Given the description of an element on the screen output the (x, y) to click on. 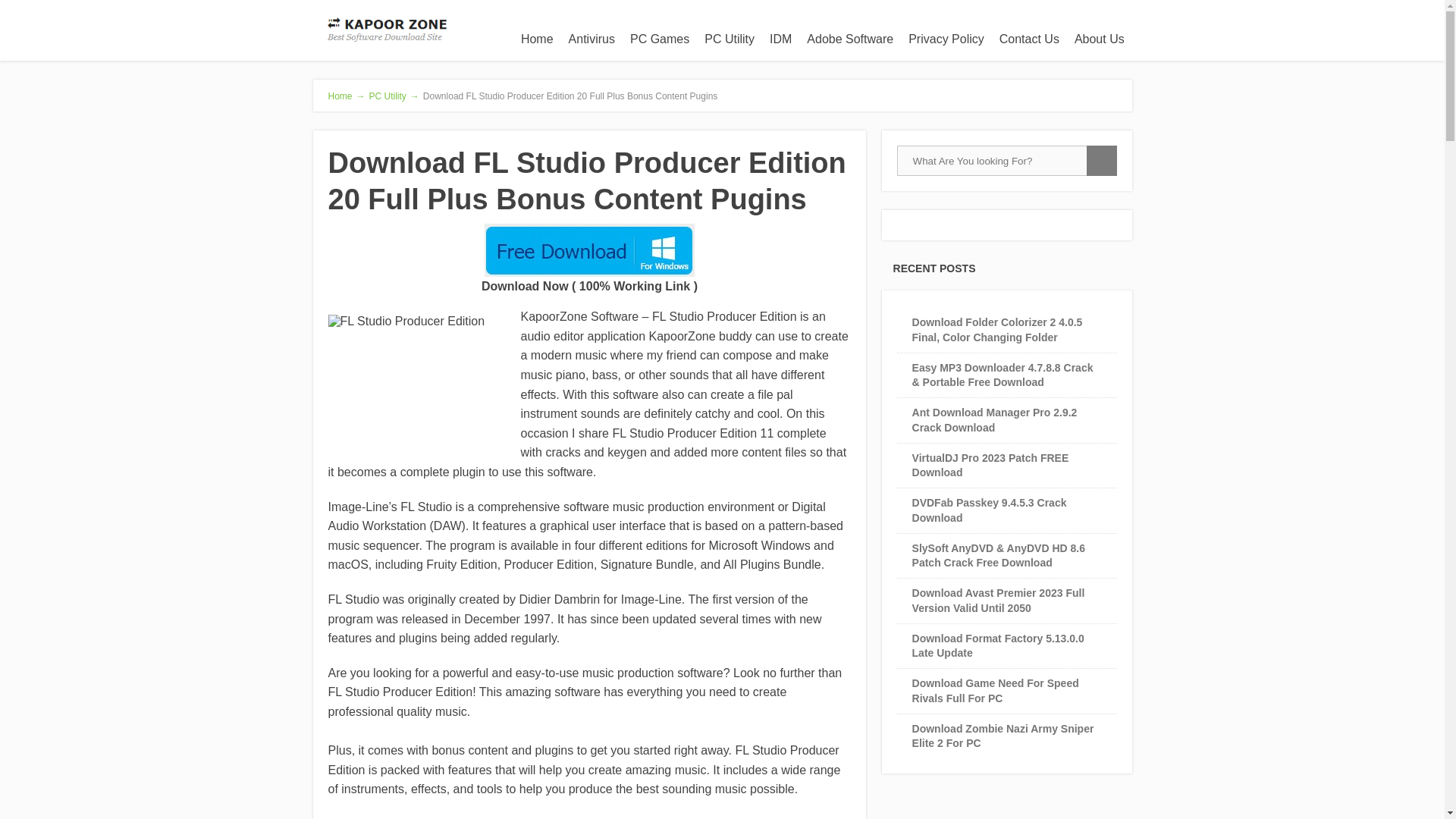
Adobe Software (850, 39)
IDM (780, 39)
Privacy Policy (946, 39)
Contact Us (1029, 39)
About Us (1099, 39)
Ant Download Manager Pro 2.9.2 Crack Download (994, 419)
PC Games (660, 39)
VirtualDJ Pro 2023 Patch FREE Download (990, 465)
Download Zombie Nazi Army Sniper Elite 2 For PC (1003, 735)
